Given the description of an element on the screen output the (x, y) to click on. 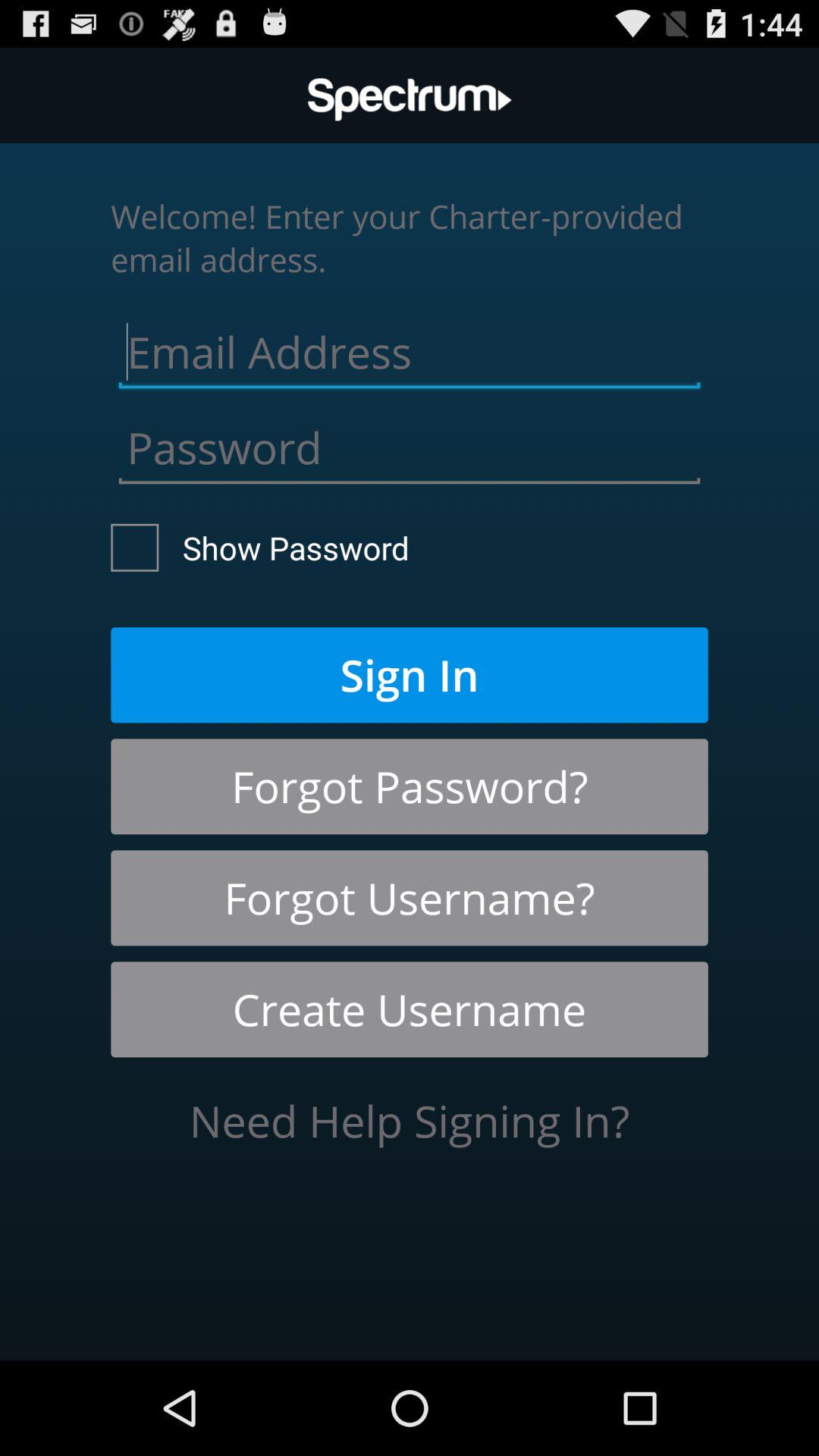
flip to welcome enter your (409, 237)
